Given the description of an element on the screen output the (x, y) to click on. 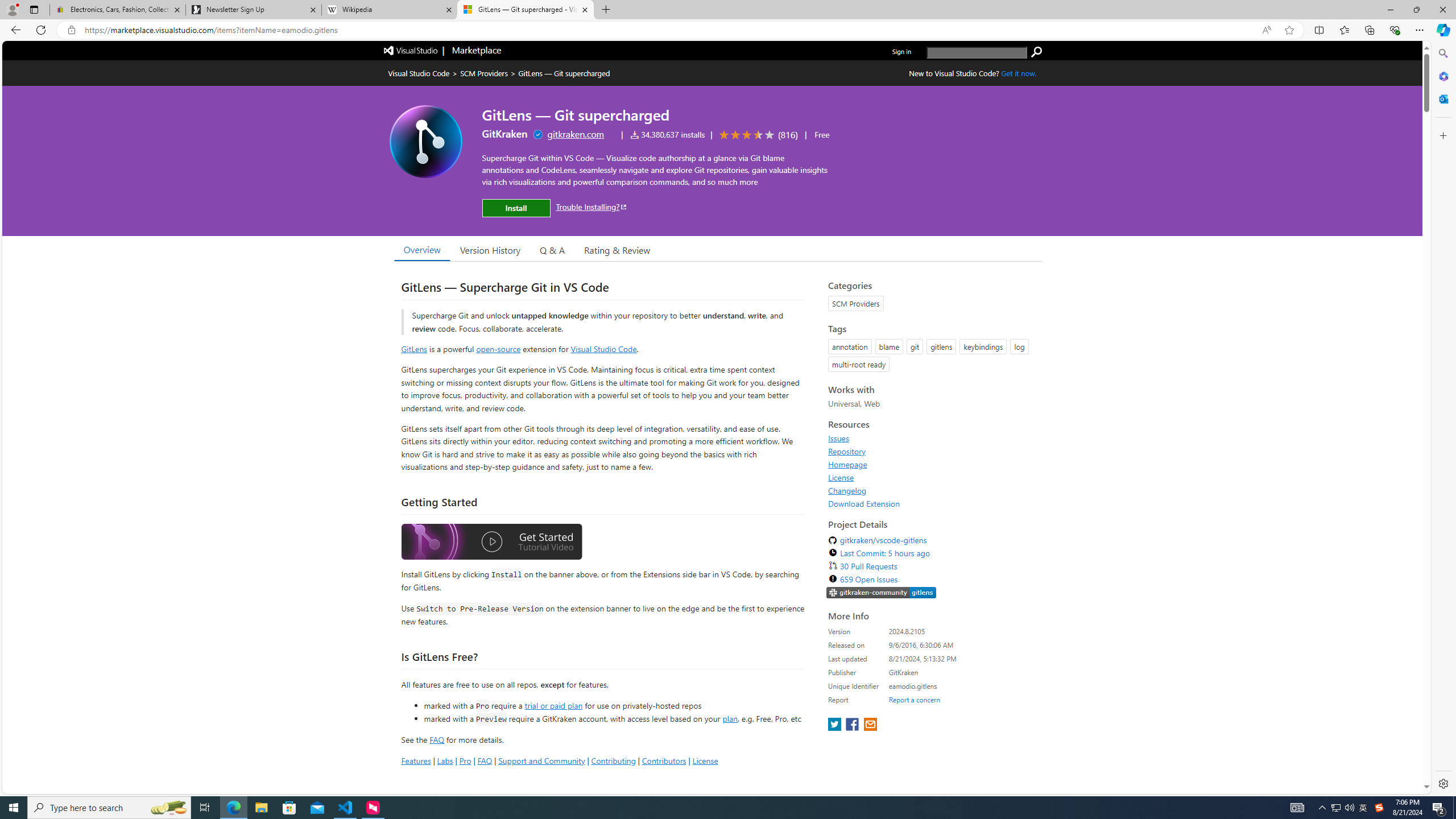
Wikipedia (390, 9)
share extension on twitter (835, 725)
Visual Studio Code (603, 348)
open-source (498, 348)
Install (515, 208)
Features (415, 760)
Homepage (847, 464)
Watch the GitLens Getting Started video (491, 543)
